Given the description of an element on the screen output the (x, y) to click on. 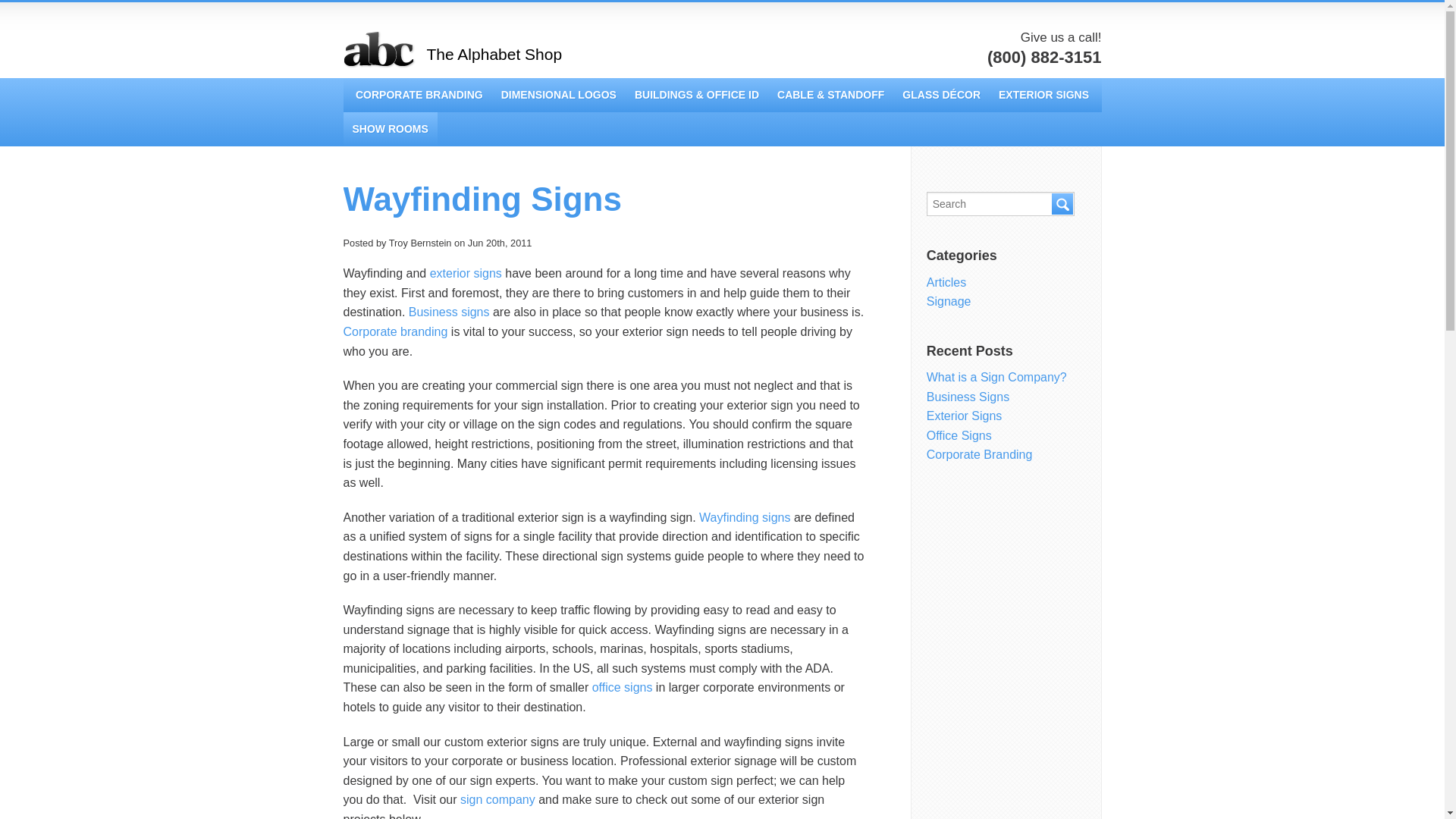
Business Signs (449, 311)
Exterior Signs (465, 273)
SHOW ROOMS (389, 129)
Business Signs (967, 396)
DIMENSIONAL LOGOS (559, 94)
Corporate Branding (394, 331)
Wayfinding Signs (481, 198)
EXTERIOR SIGNS (1043, 94)
Corporate branding (394, 331)
exterior signs (465, 273)
